Given the description of an element on the screen output the (x, y) to click on. 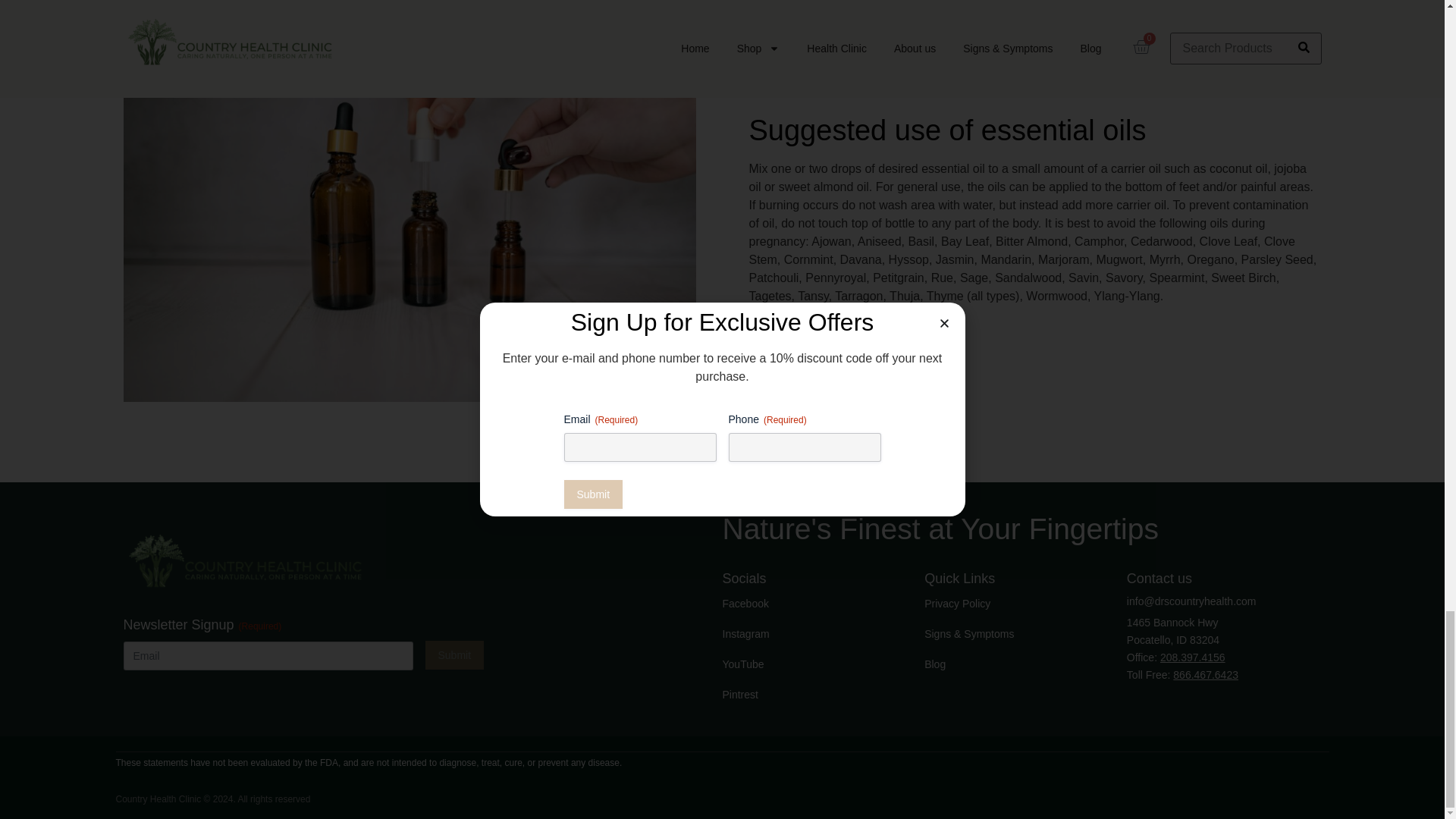
Submit (454, 654)
